Given the description of an element on the screen output the (x, y) to click on. 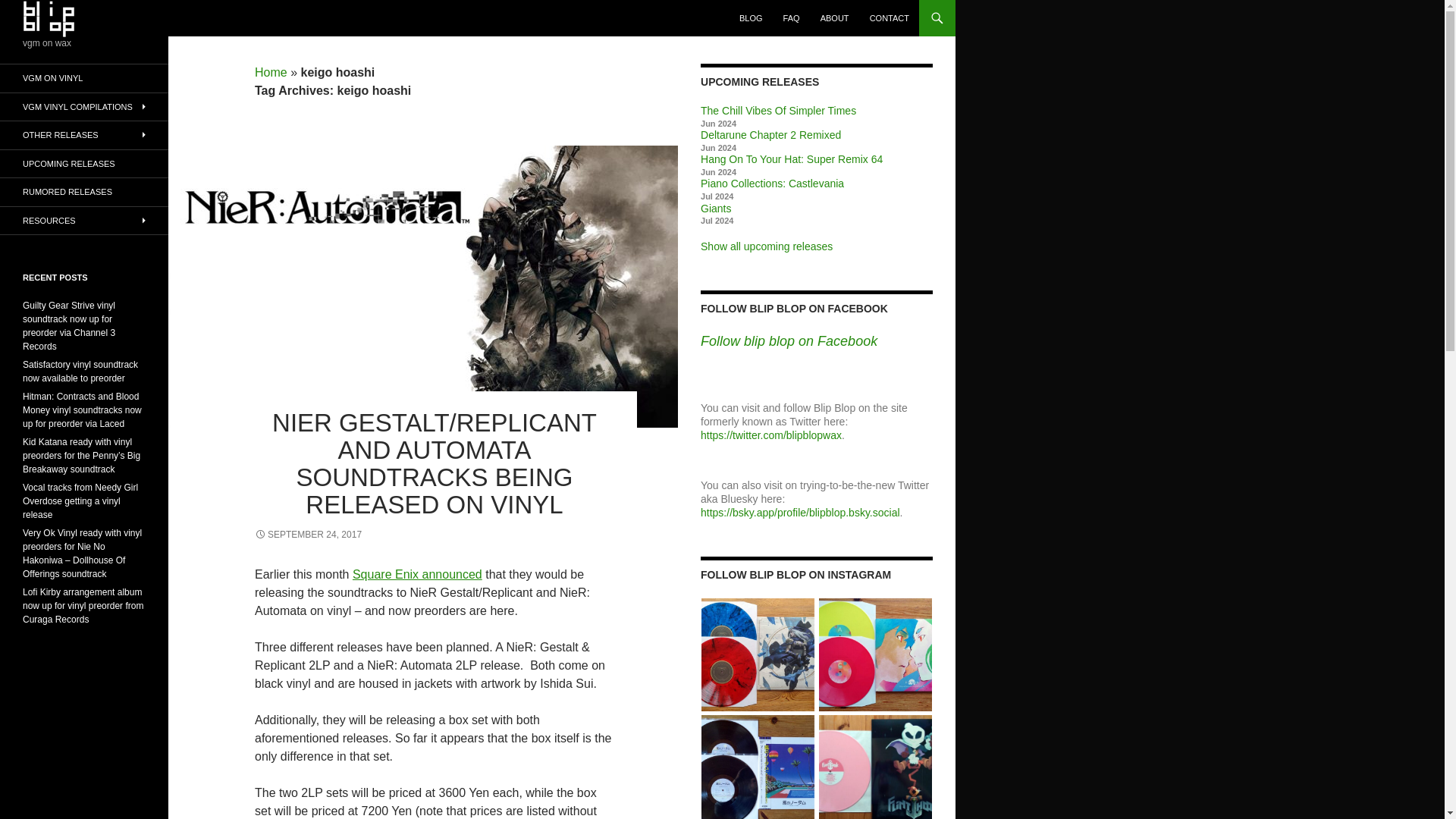
Deltarune Chapter 2 Remixed (770, 134)
Follow blip blop on Facebook (788, 340)
Giants (715, 207)
FOLLOW BLIP BLOP ON FACEBOOK (794, 308)
Square Enix announced (416, 574)
Home (270, 72)
FAQ (791, 18)
ABOUT (834, 18)
Piano Collections: Castlevania (772, 183)
Hang On To Your Hat: Super Remix 64 (791, 159)
Giants (715, 207)
The Chill Vibes Of Simpler Times (778, 110)
CONTACT (889, 18)
Show all upcoming releases (766, 246)
Hang On To Your Hat: Super Remix 64 (791, 159)
